Given the description of an element on the screen output the (x, y) to click on. 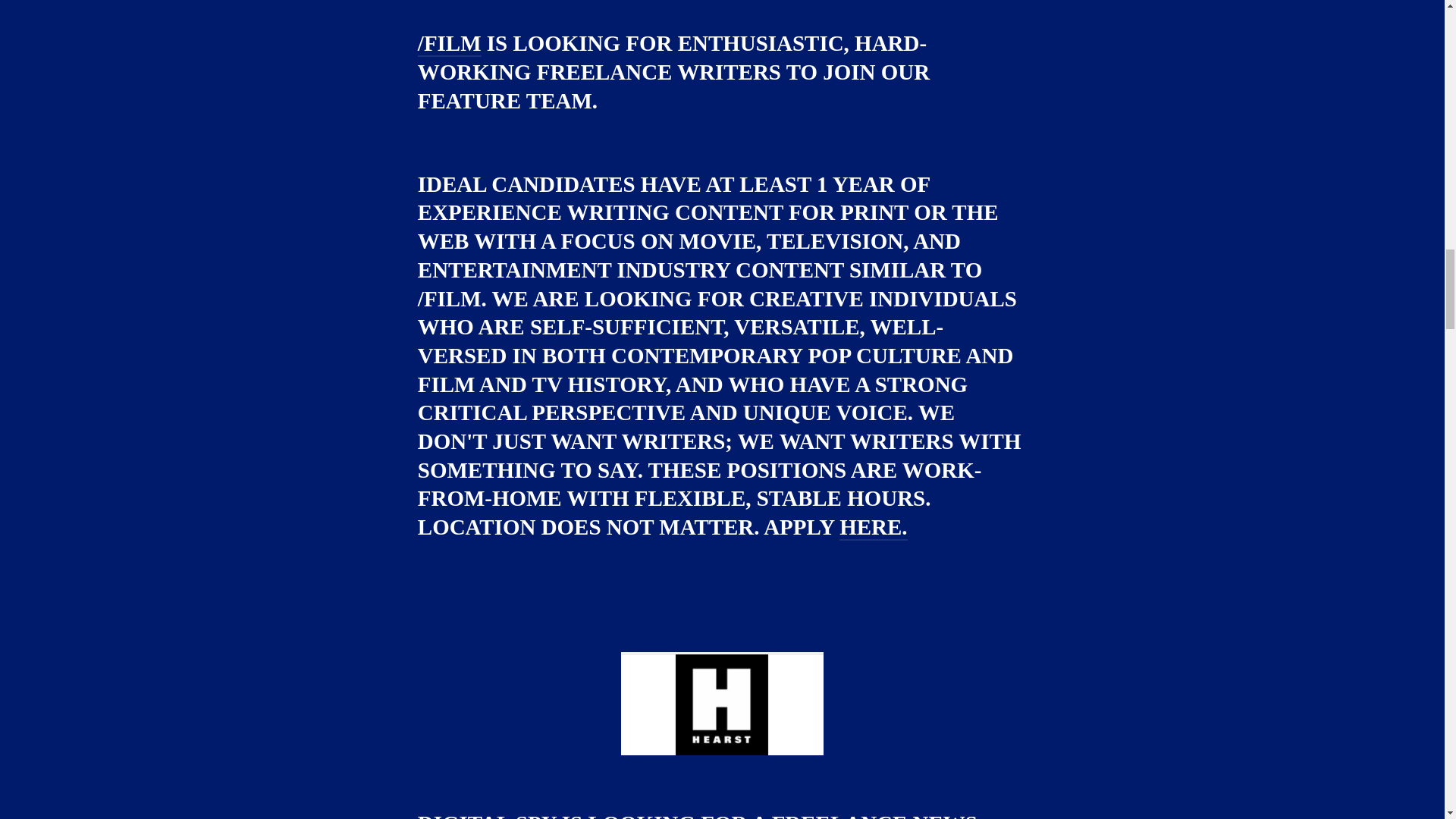
HERE. (873, 527)
